Given the description of an element on the screen output the (x, y) to click on. 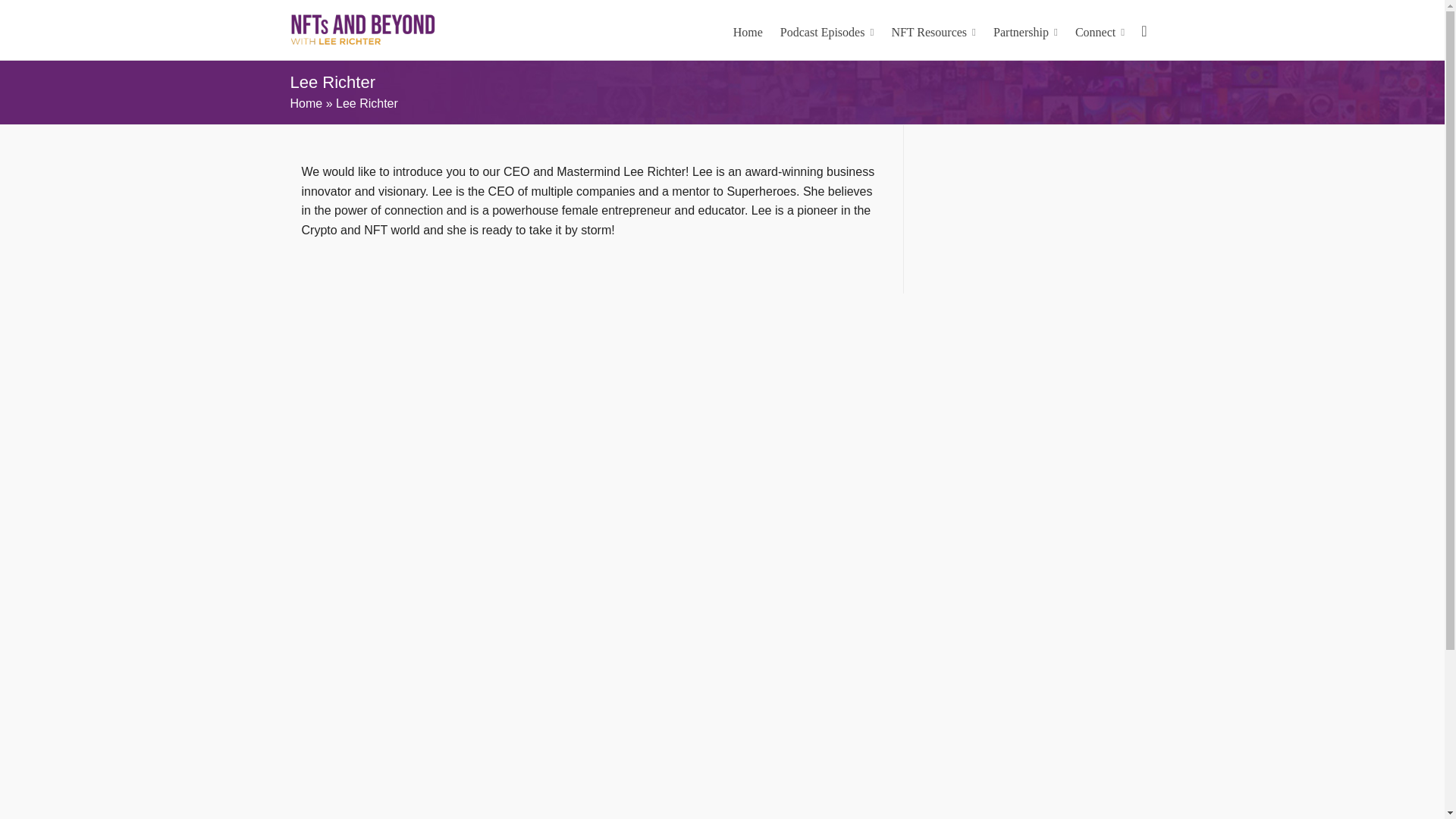
Podcast Episodes (826, 30)
Connect (1099, 30)
Partnership (1025, 30)
NFT Resources (933, 30)
